Given the description of an element on the screen output the (x, y) to click on. 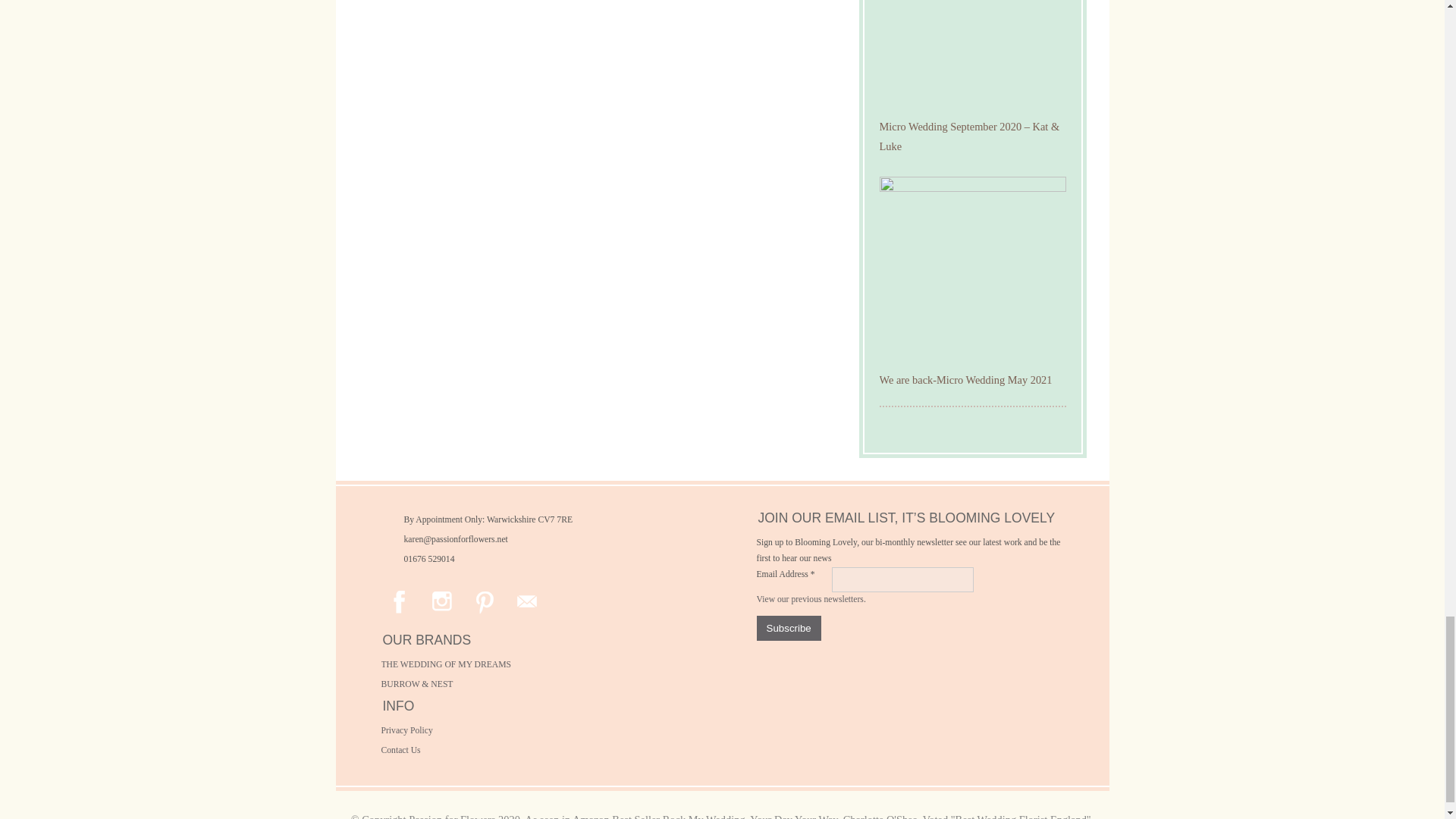
Subscribe (789, 627)
